Given the description of an element on the screen output the (x, y) to click on. 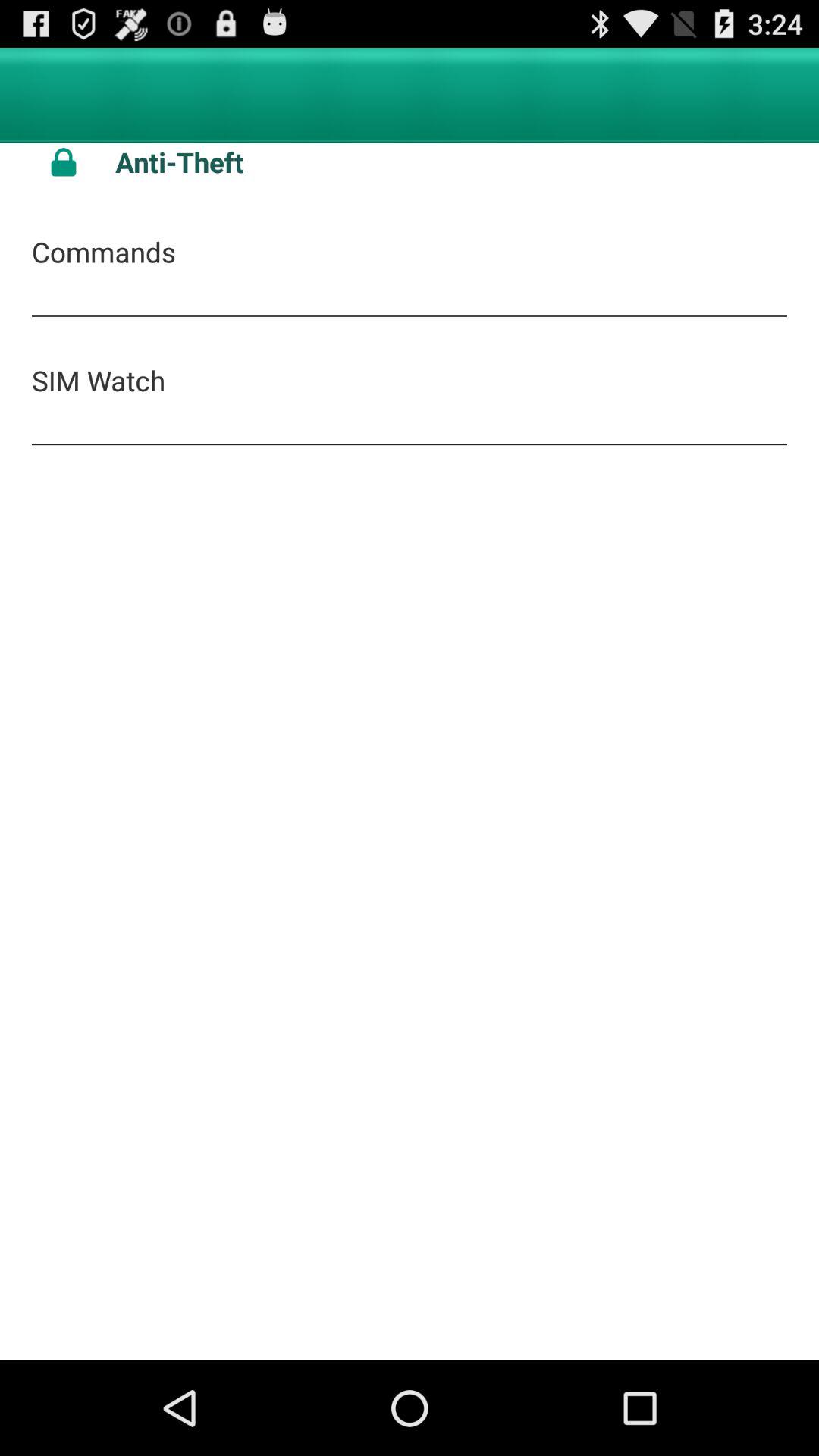
turn on the app below commands icon (98, 380)
